Given the description of an element on the screen output the (x, y) to click on. 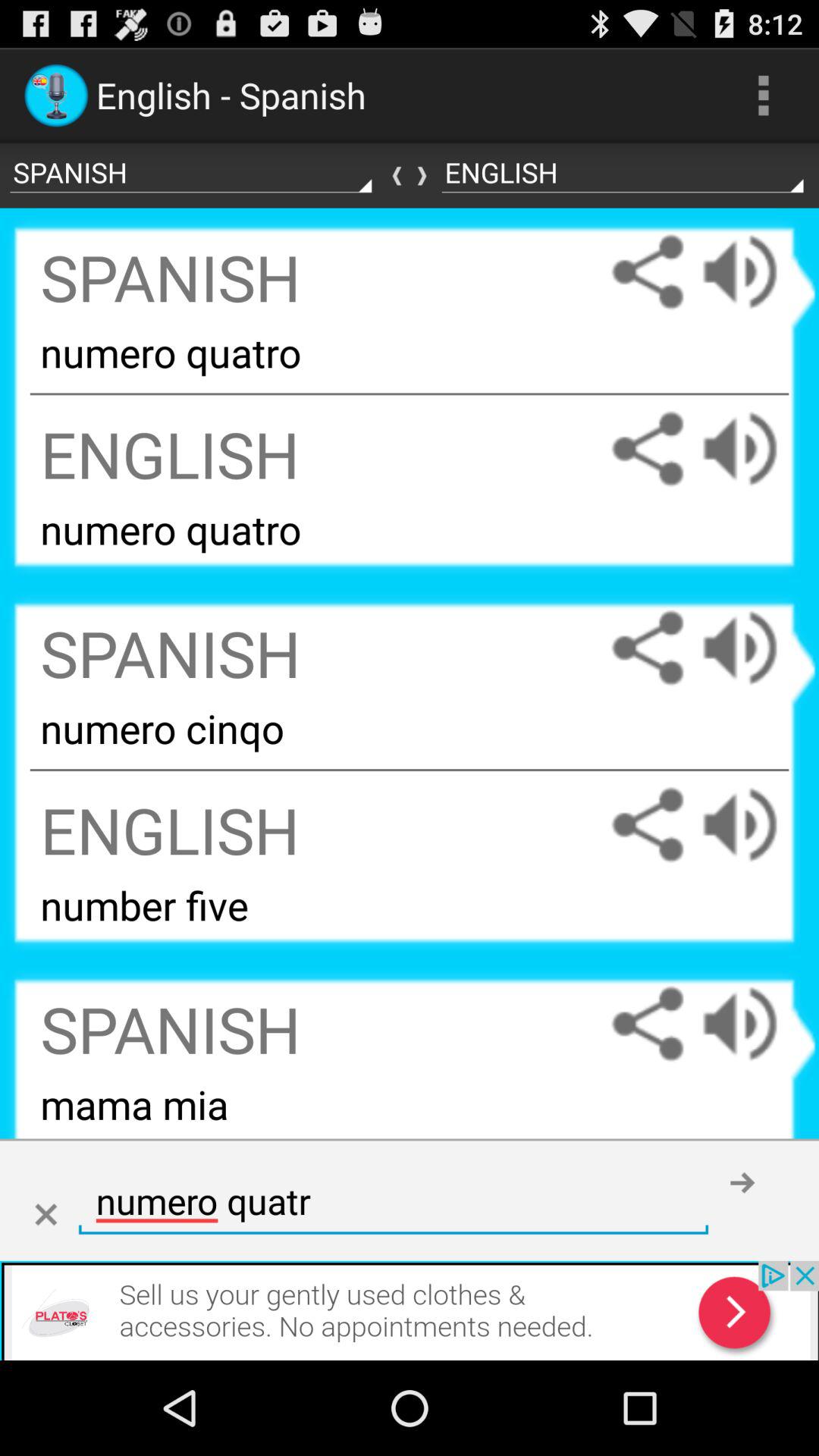
swap languages (409, 175)
